Given the description of an element on the screen output the (x, y) to click on. 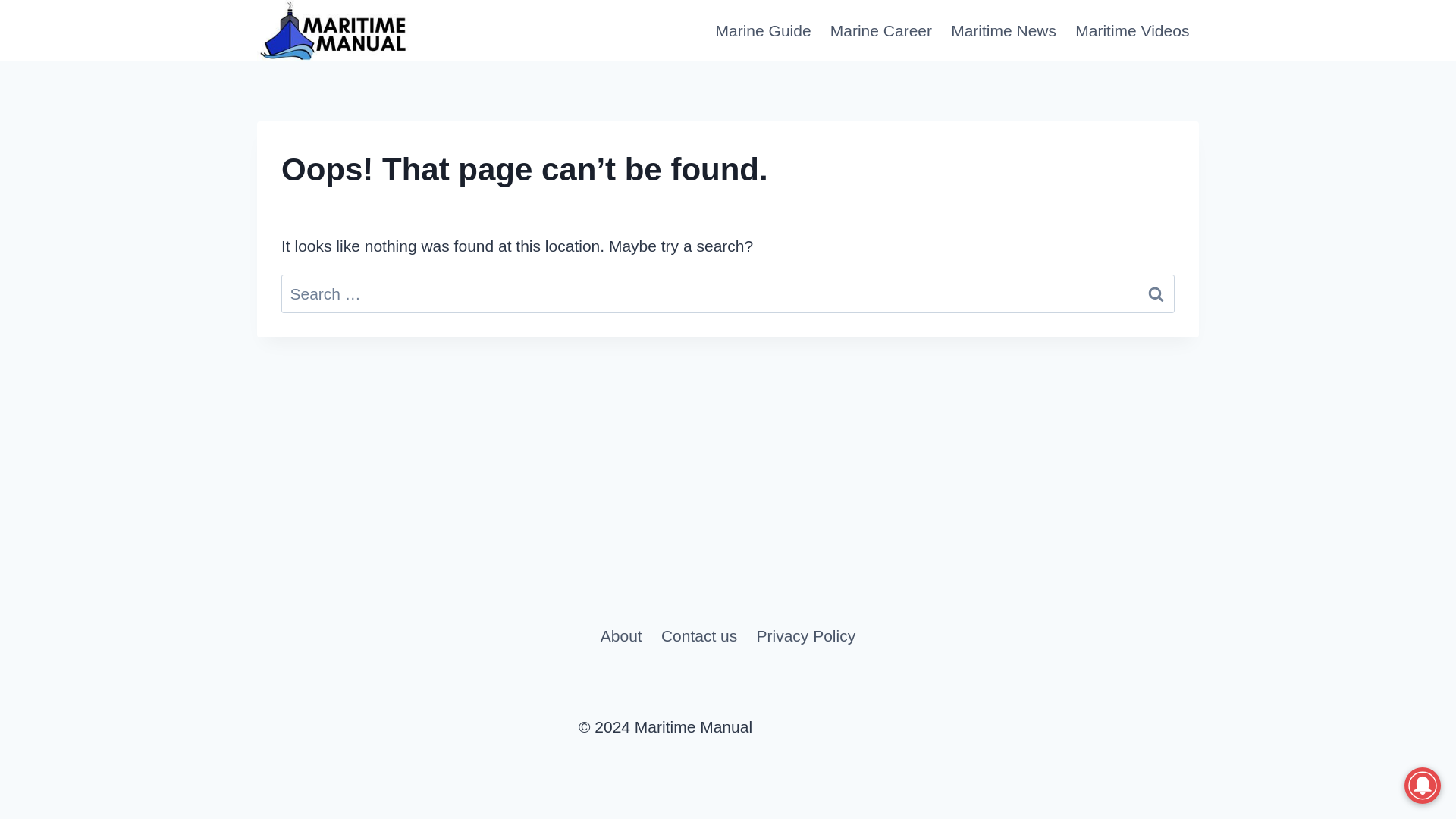
About (620, 635)
Maritime Videos (1131, 30)
Maritime News (1003, 30)
Contact us (698, 635)
Marine Guide (763, 30)
Privacy Policy (805, 635)
Search (1155, 293)
Search (1155, 293)
Search (1155, 293)
Marine Career (880, 30)
